Given the description of an element on the screen output the (x, y) to click on. 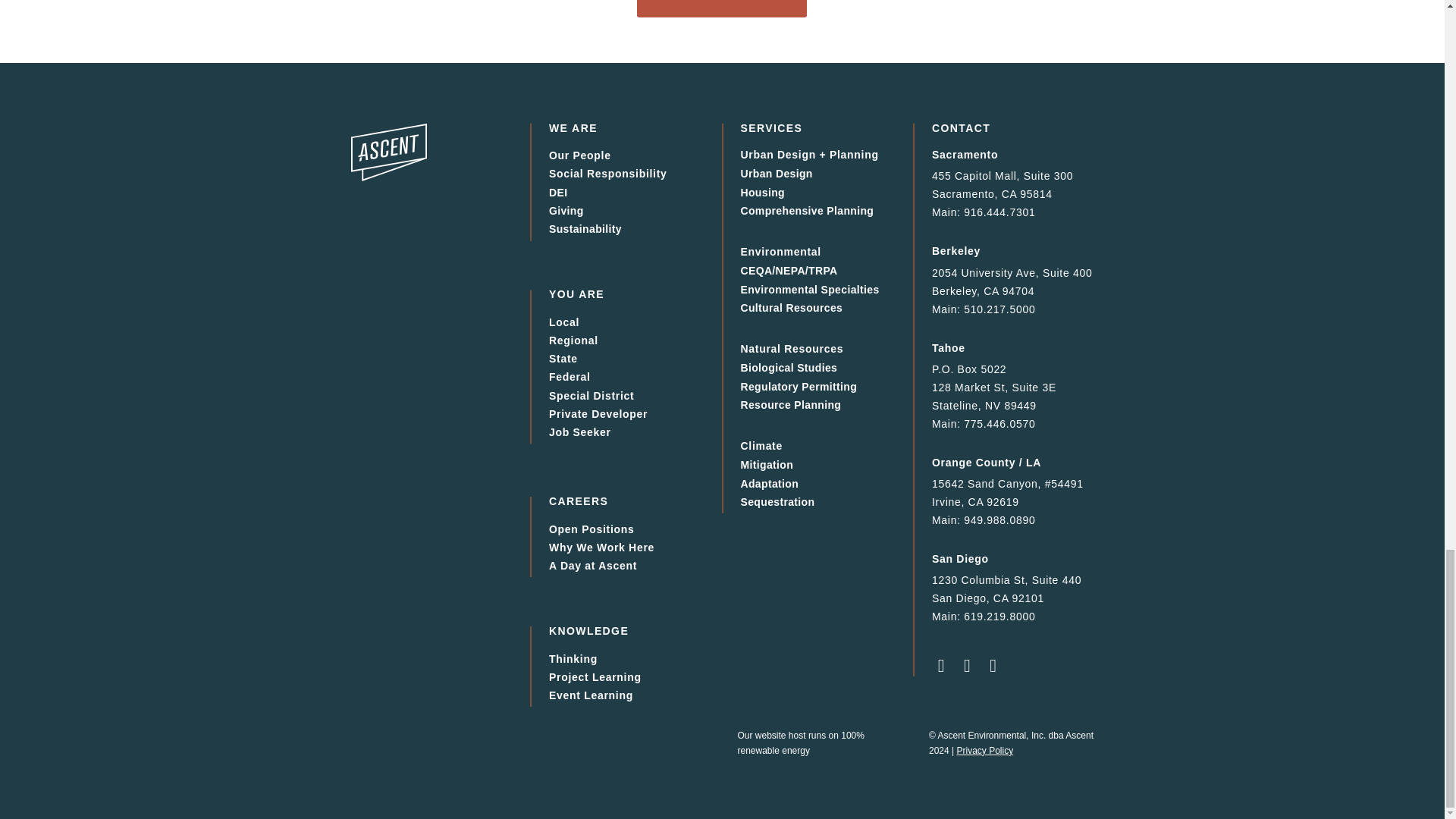
Climate (760, 445)
Special District (590, 396)
Natural Resources (791, 348)
Social Responsibility (607, 173)
Urban Design (775, 173)
Regional (573, 340)
WE ARE (572, 128)
YOU ARE (576, 294)
Home (388, 151)
Why We Work Here (600, 547)
